Given the description of an element on the screen output the (x, y) to click on. 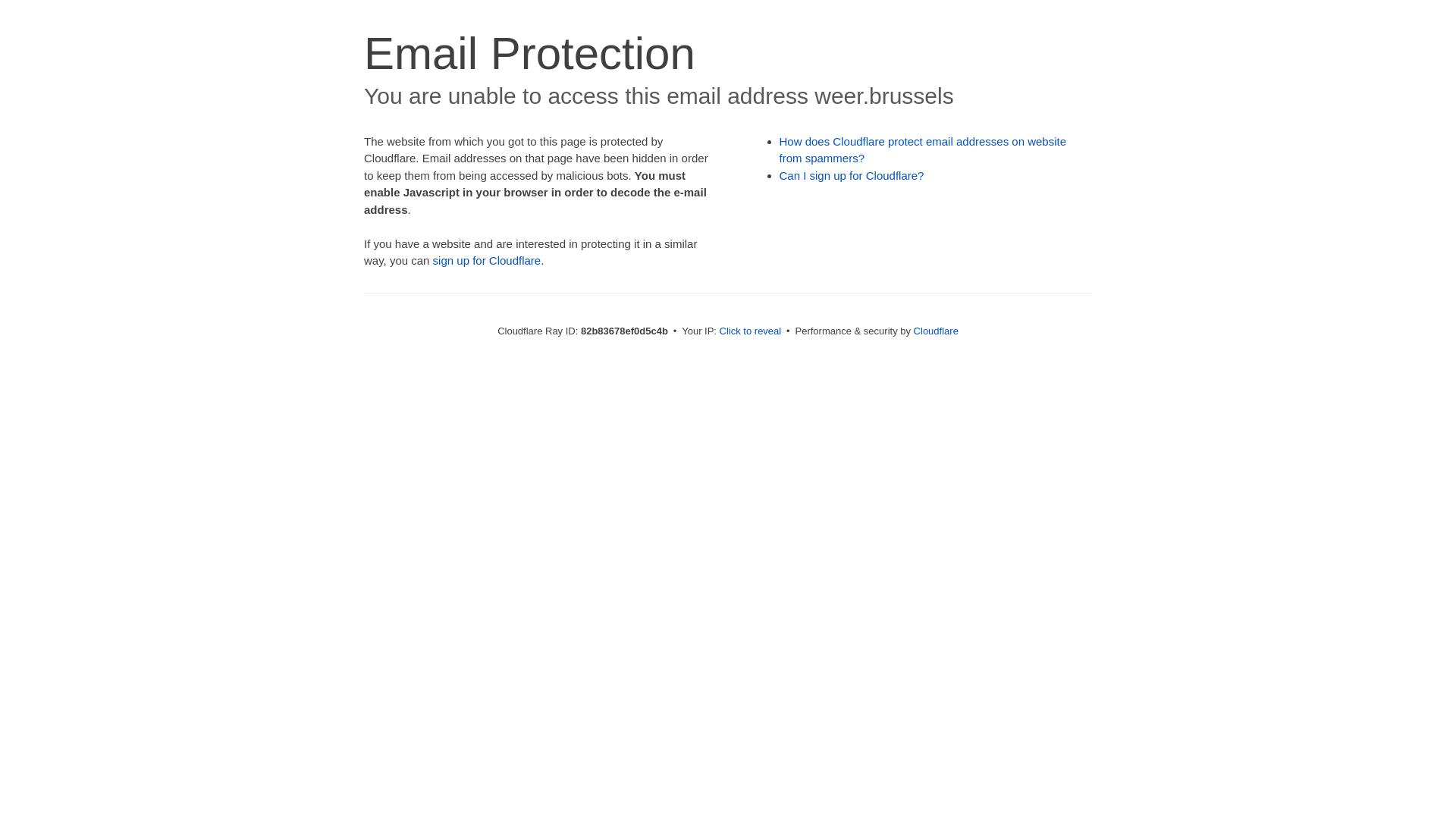
Click to reveal Element type: text (750, 330)
Cloudflare Element type: text (935, 330)
Can I sign up for Cloudflare? Element type: text (851, 175)
sign up for Cloudflare Element type: text (487, 260)
